Given the description of an element on the screen output the (x, y) to click on. 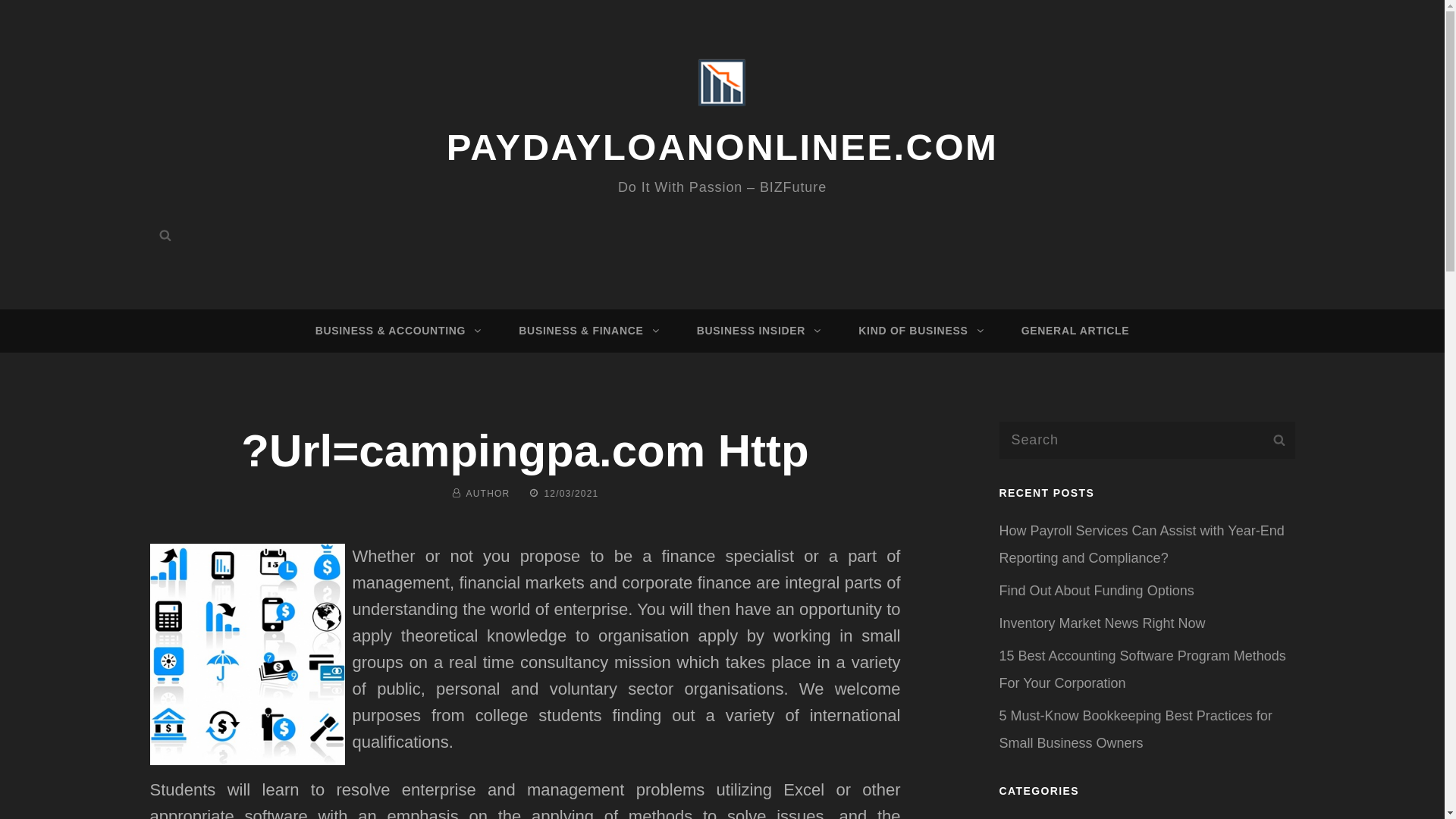
KIND OF BUSINESS (918, 330)
PAYDAYLOANONLINEE.COM (722, 146)
GENERAL ARTICLE (1075, 330)
BUSINESS INSIDER (756, 330)
AUTHOR (488, 493)
Search (164, 234)
